Given the description of an element on the screen output the (x, y) to click on. 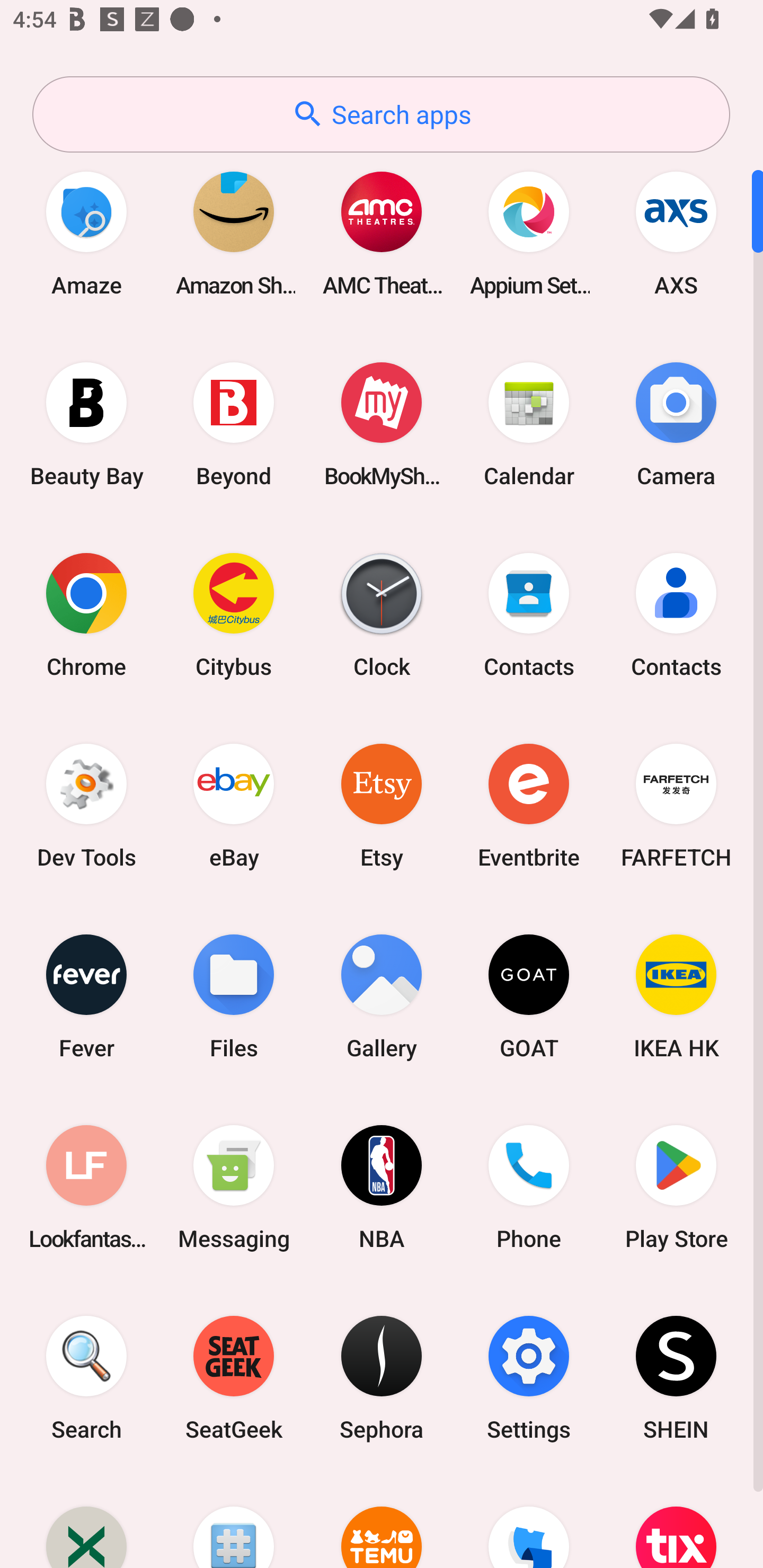
  Search apps (381, 114)
Amaze (86, 233)
Amazon Shopping (233, 233)
AMC Theatres (381, 233)
Appium Settings (528, 233)
AXS (676, 233)
Beauty Bay (86, 424)
Beyond (233, 424)
BookMyShow (381, 424)
Calendar (528, 424)
Camera (676, 424)
Chrome (86, 614)
Citybus (233, 614)
Clock (381, 614)
Contacts (528, 614)
Contacts (676, 614)
Dev Tools (86, 805)
eBay (233, 805)
Etsy (381, 805)
Eventbrite (528, 805)
FARFETCH (676, 805)
Fever (86, 996)
Files (233, 996)
Gallery (381, 996)
GOAT (528, 996)
IKEA HK (676, 996)
Lookfantastic (86, 1186)
Messaging (233, 1186)
NBA (381, 1186)
Phone (528, 1186)
Play Store (676, 1186)
Search (86, 1377)
SeatGeek (233, 1377)
Sephora (381, 1377)
Settings (528, 1377)
SHEIN (676, 1377)
StockX (86, 1520)
Superuser (233, 1520)
Temu (381, 1520)
TickPick (528, 1520)
TodayTix (676, 1520)
